Given the description of an element on the screen output the (x, y) to click on. 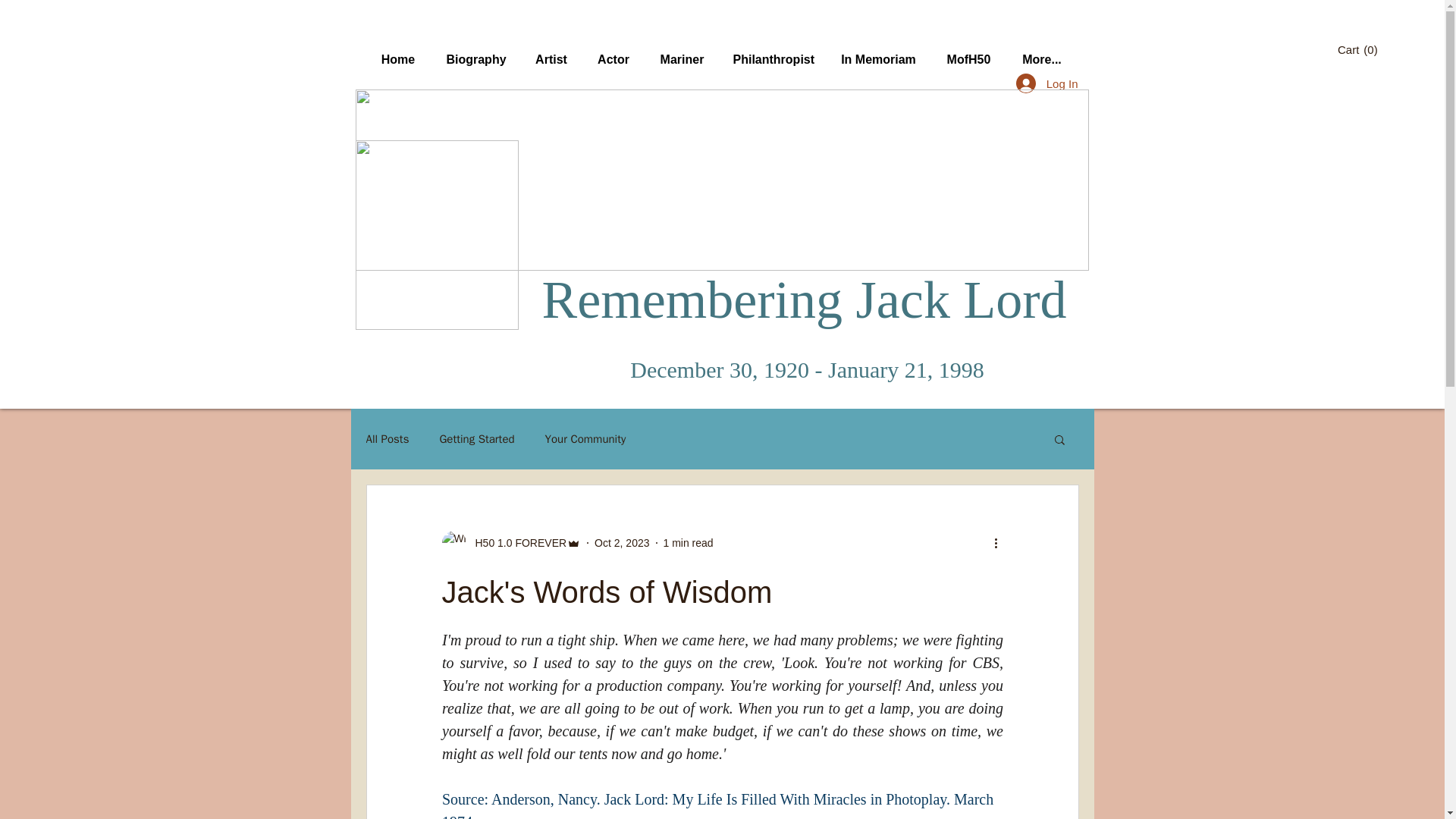
In Memoriam (879, 52)
Home (397, 52)
Actor (613, 52)
Artist (549, 52)
Oct 2, 2023 (621, 542)
RJL Banner - Nov202014.png (721, 180)
Philanthropist (772, 52)
H50 1.0 FOREVER (515, 543)
1 min read (687, 542)
Biography (476, 52)
